Given the description of an element on the screen output the (x, y) to click on. 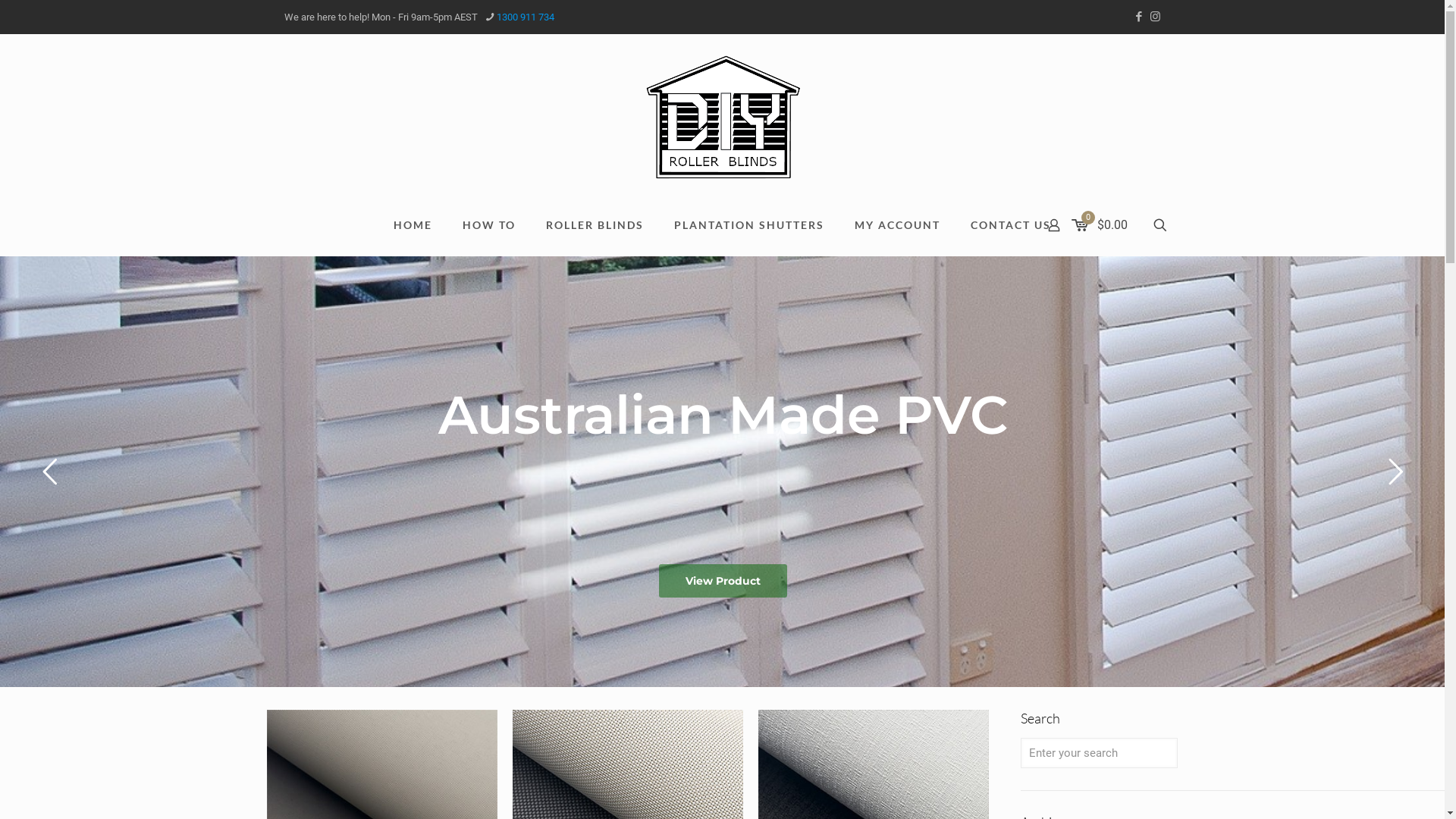
DIY Roller Blinds Element type: hover (722, 118)
PLANTATION SHUTTERS Element type: text (748, 224)
CONTACT US Element type: text (1010, 224)
HOME Element type: text (412, 224)
MY ACCOUNT Element type: text (897, 224)
ROLLER BLINDS Element type: text (594, 224)
HOW TO Element type: text (488, 224)
Instagram Element type: hover (1155, 16)
Facebook Element type: hover (1138, 16)
0
$0.00 Element type: text (1100, 224)
1300 911 734 Element type: text (524, 16)
